Given the description of an element on the screen output the (x, y) to click on. 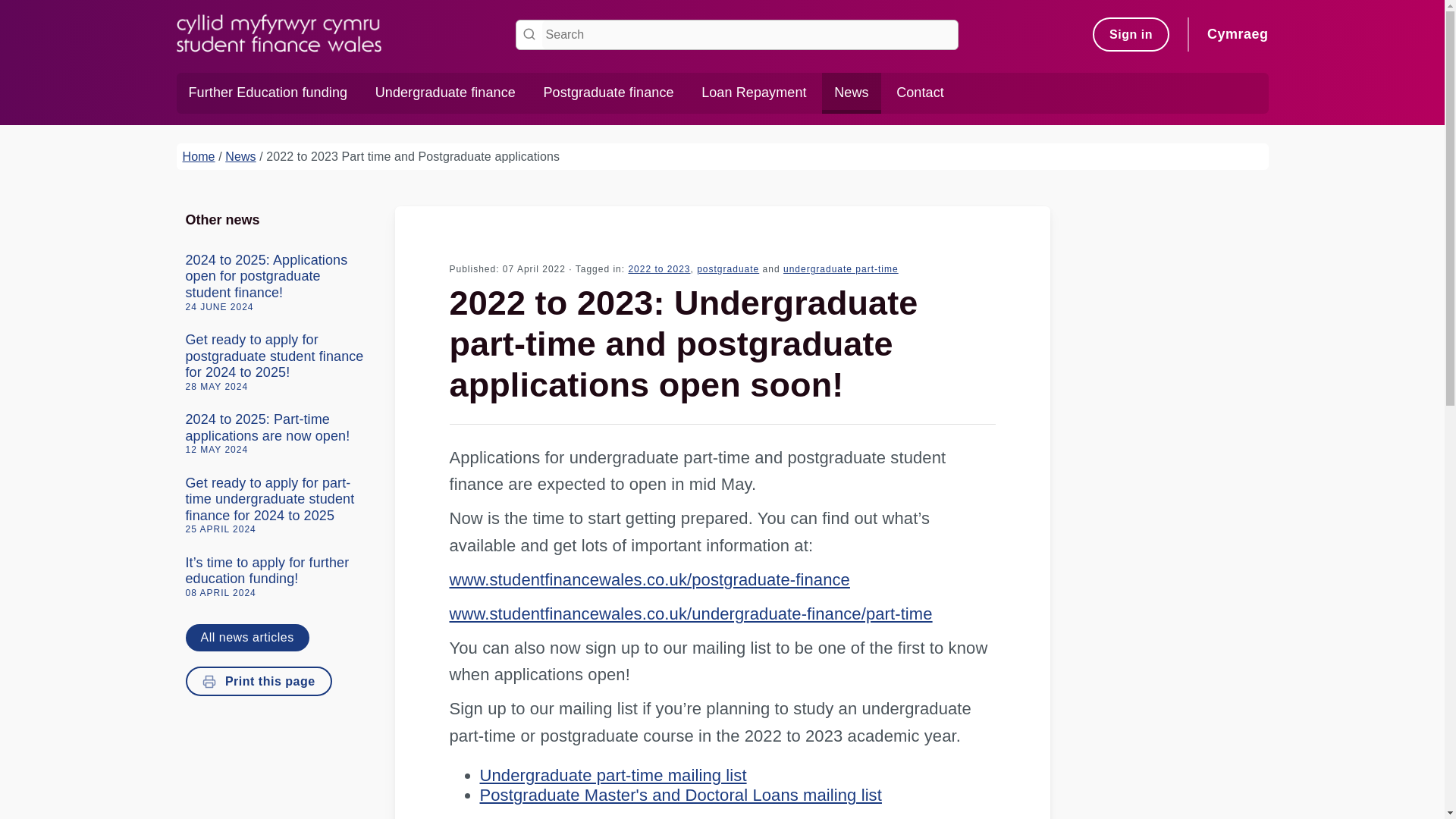
Sign in (1131, 34)
Other news (279, 220)
Postgraduate Master's and Doctoral Loans mailing list (679, 795)
postgraduate (727, 268)
2022 to 2023 (658, 268)
Undergraduate finance (444, 92)
undergraduate part-time (840, 268)
All news articles (246, 637)
News (851, 92)
